Given the description of an element on the screen output the (x, y) to click on. 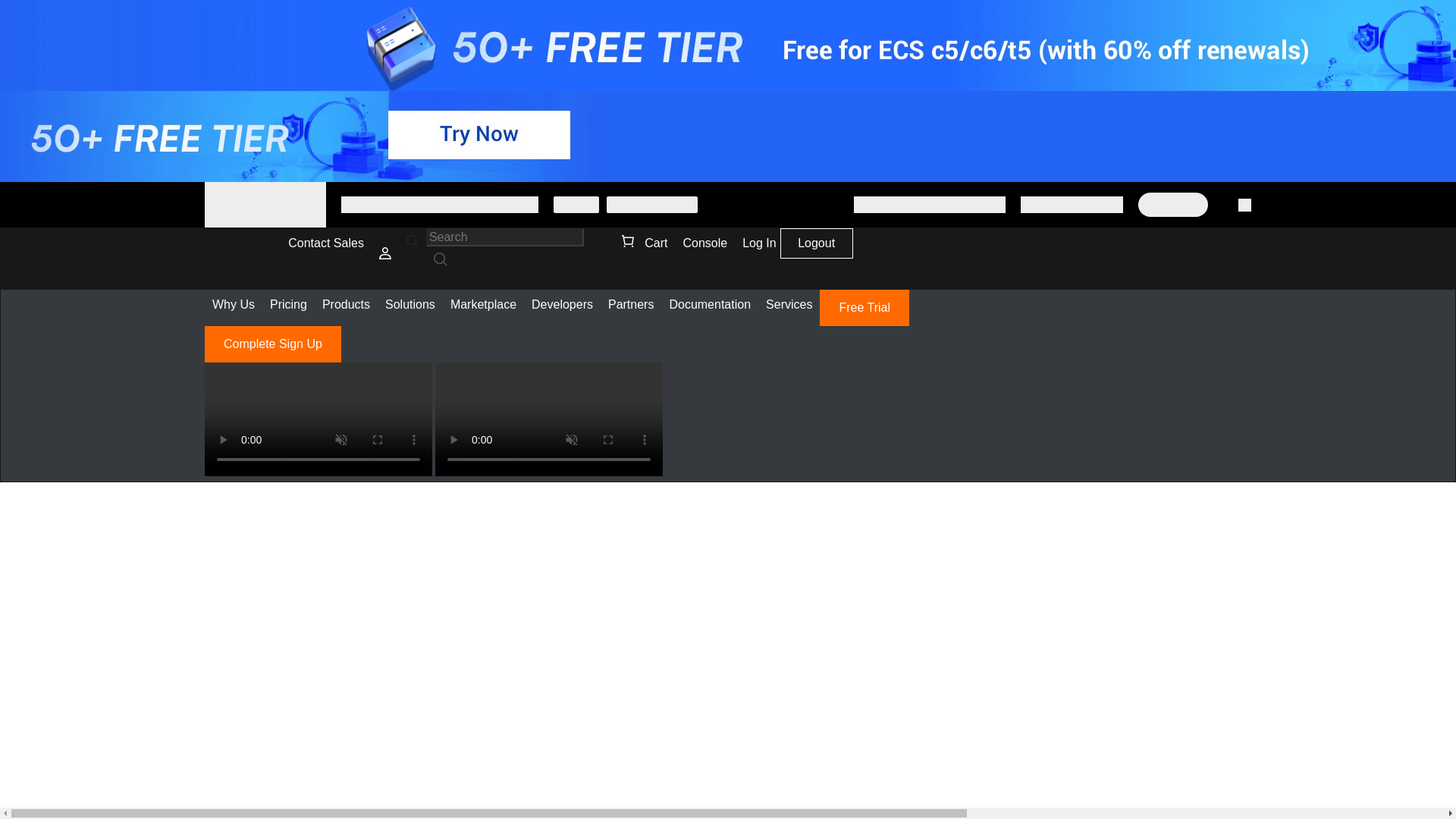
Free Trial (863, 307)
Contact Sales (326, 243)
Documentation (709, 304)
Logout (816, 246)
Partners (630, 304)
Developers (561, 304)
Marketplace (483, 304)
Log In (759, 243)
Solutions (409, 304)
Products (345, 304)
